Given the description of an element on the screen output the (x, y) to click on. 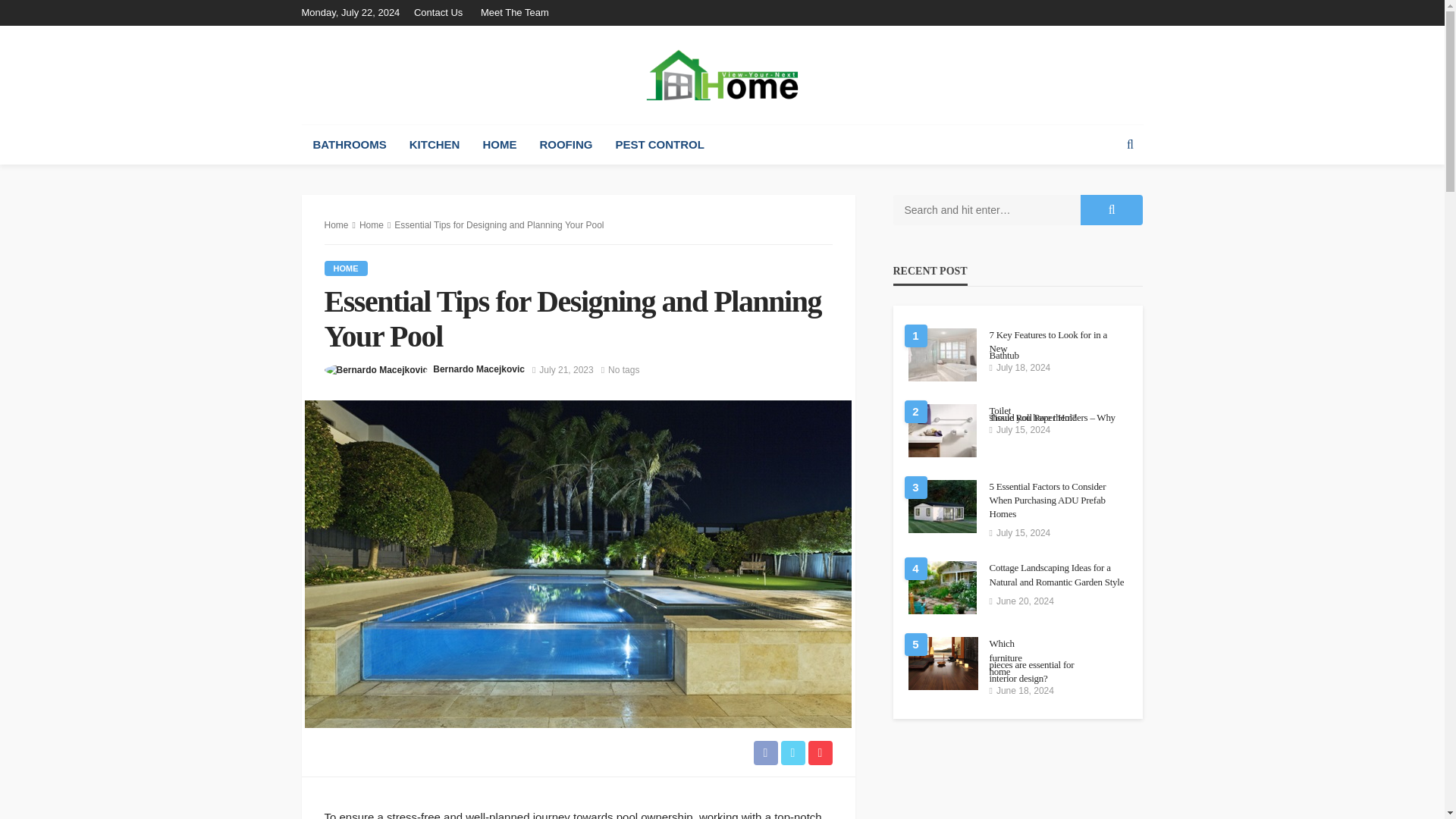
Contact Us (441, 12)
Home (336, 225)
HOME (346, 268)
Home (371, 225)
Home (346, 268)
ROOFING (565, 144)
PEST CONTROL (660, 144)
KITCHEN (434, 144)
View Your Next Home (721, 74)
Bernardo Macejkovic (478, 368)
Posts tagged with kitchen (434, 144)
Meet The Team (514, 12)
HOME (498, 144)
BATHROOMS (349, 144)
Posts tagged with home (498, 144)
